Given the description of an element on the screen output the (x, y) to click on. 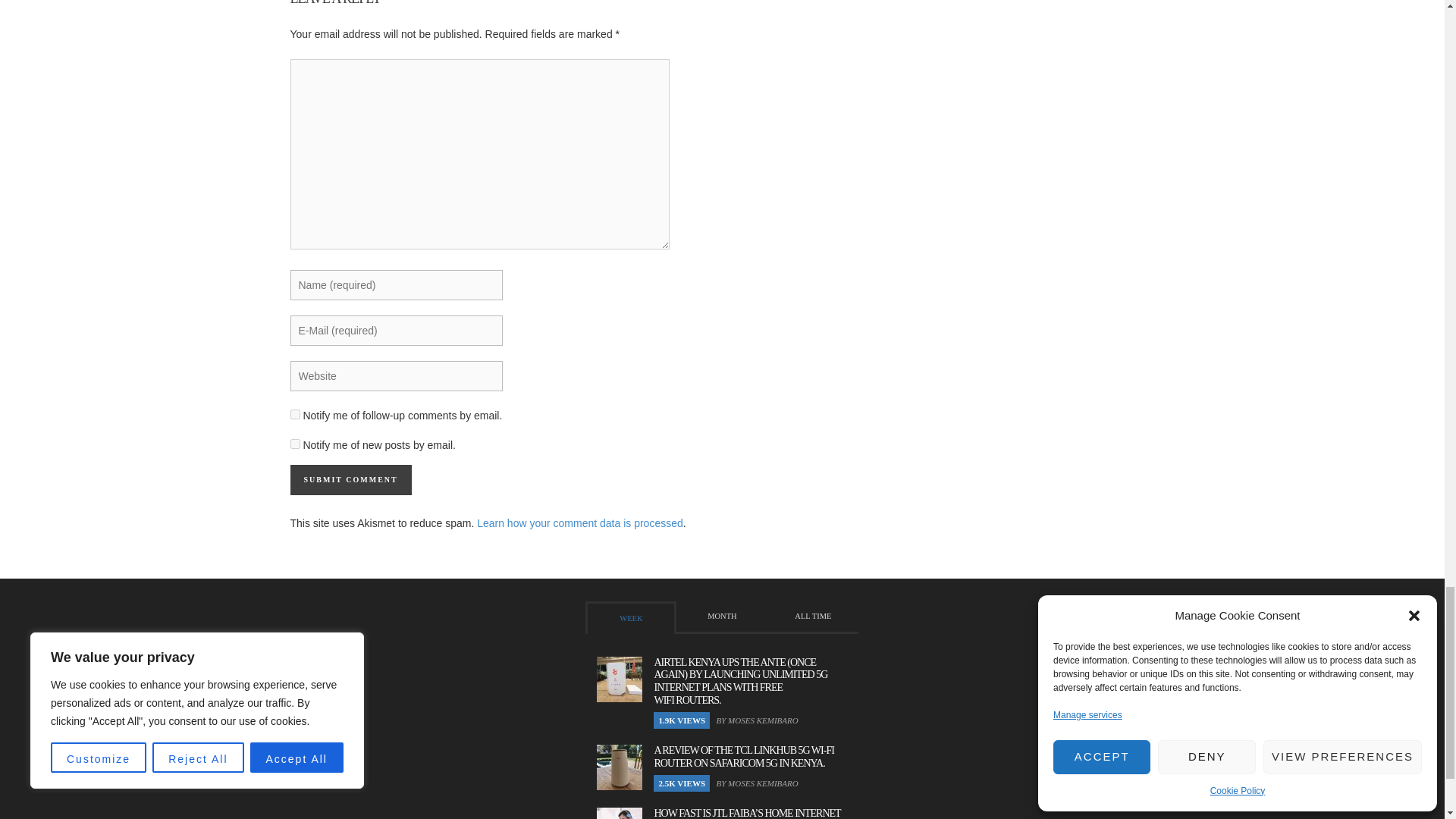
subscribe (294, 443)
Submit comment (349, 480)
subscribe (294, 414)
